Given the description of an element on the screen output the (x, y) to click on. 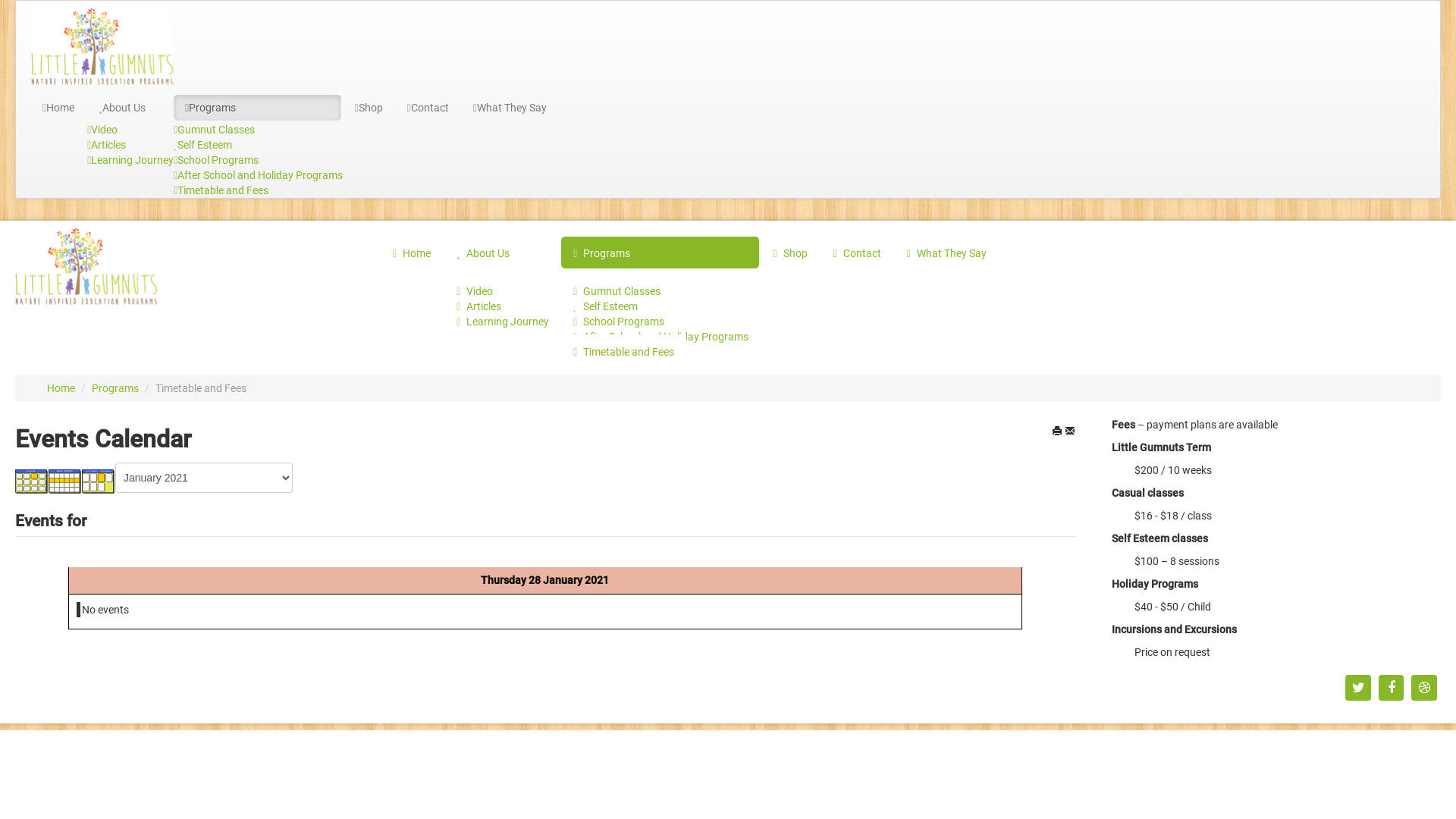
By Week Element type: hover (64, 480)
Learning Journey Element type: text (502, 320)
Video Element type: text (102, 129)
EMAIL Element type: hover (1069, 430)
Video Element type: text (474, 290)
Print Element type: hover (1056, 430)
School Programs Element type: text (215, 159)
Home Element type: text (411, 252)
Gumnut Classes Element type: text (616, 290)
Articles Element type: text (478, 305)
Programs Element type: text (660, 252)
What They Say Element type: text (946, 252)
Contact Element type: text (857, 252)
By Month Element type: hover (31, 480)
Shop Element type: text (367, 107)
Contact Element type: text (427, 107)
What They Say Element type: text (509, 107)
Self Esteem Element type: text (605, 305)
About Us Element type: text (501, 252)
Programs Element type: text (116, 388)
Home Element type: text (62, 388)
Timetable and Fees Element type: text (220, 190)
Home Element type: text (58, 107)
Articles Element type: text (106, 144)
Gumnut Classes Element type: text (213, 129)
Timetable and Fees Element type: text (623, 350)
After School and Holiday Programs Element type: text (660, 335)
Shop Element type: text (789, 252)
After School and Holiday Programs Element type: text (257, 175)
Learning Journey Element type: text (130, 159)
Today Element type: hover (98, 480)
School Programs Element type: text (618, 320)
Self Esteem Element type: text (202, 144)
Programs Element type: text (257, 107)
About Us Element type: text (129, 107)
